Given the description of an element on the screen output the (x, y) to click on. 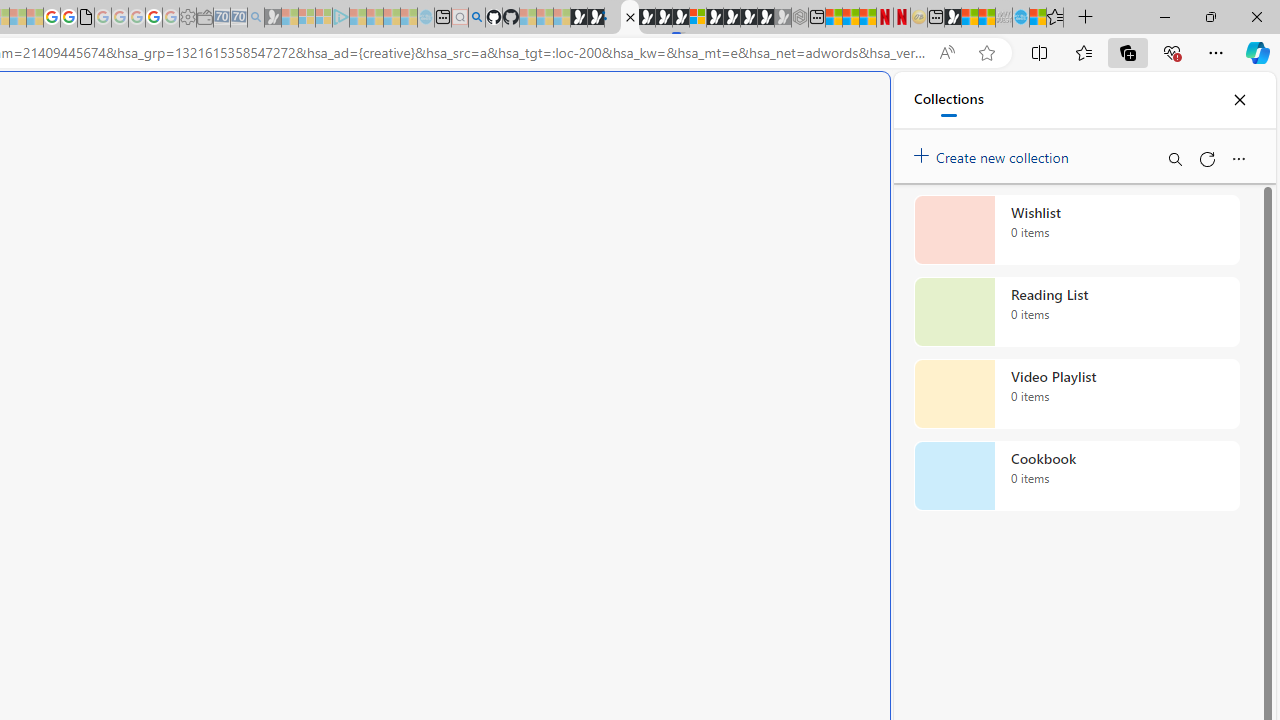
Sign in to your account (697, 17)
Cookbook collection, 0 items (1076, 475)
Create new collection (994, 153)
Video Playlist collection, 0 items (1076, 394)
More options menu (1238, 158)
